Given the description of an element on the screen output the (x, y) to click on. 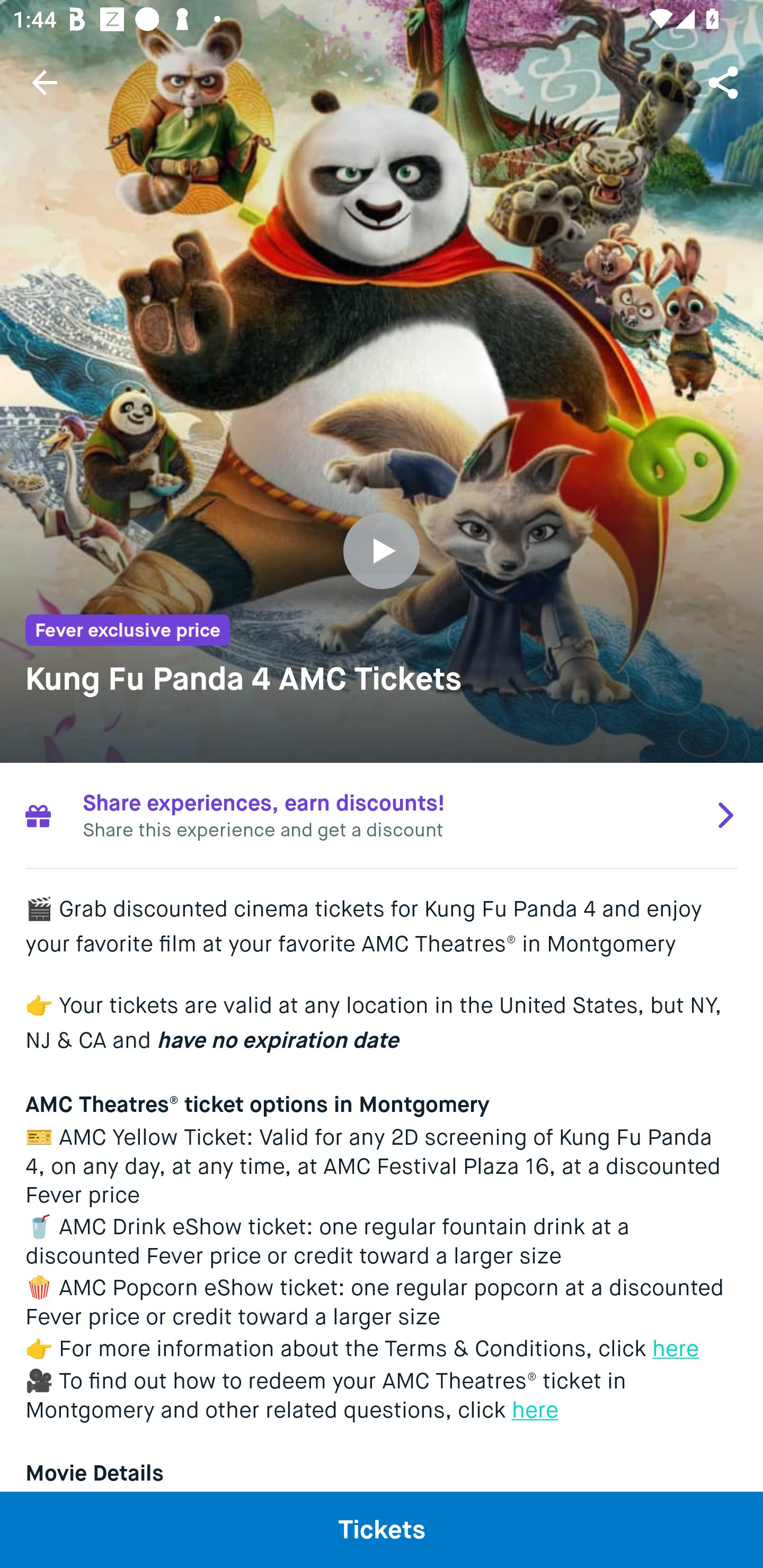
Navigate up (44, 82)
Share (724, 81)
Tickets (381, 1529)
